Given the description of an element on the screen output the (x, y) to click on. 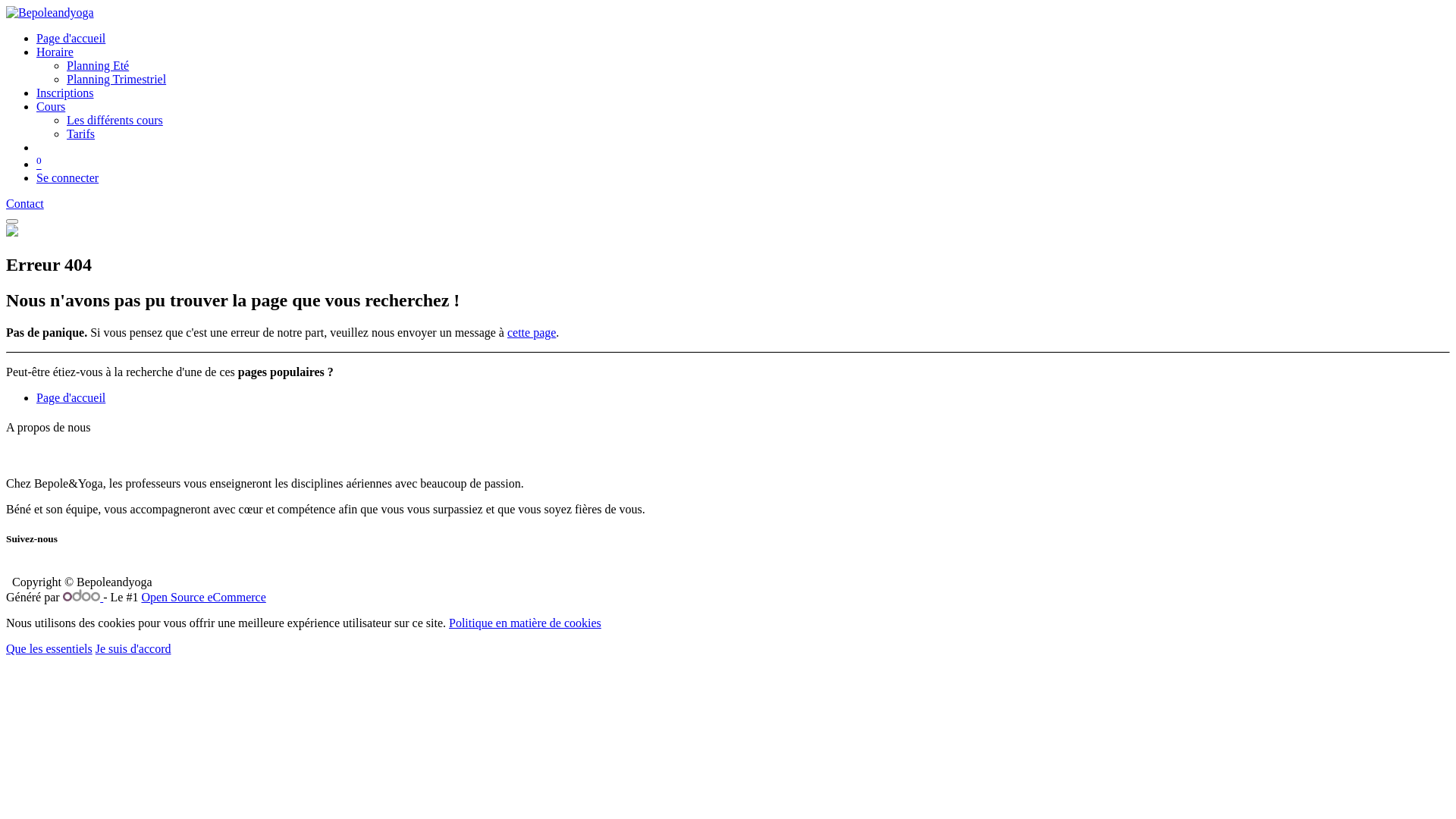
Que les essentiels Element type: text (49, 648)
Contact Element type: text (24, 203)
Page d'accueil Element type: text (70, 397)
Planning Trimestriel Element type: text (116, 78)
Je suis d'accord Element type: text (133, 648)
Horaire Element type: text (54, 51)
Tarifs Element type: text (80, 133)
cette page Element type: text (531, 332)
Inscriptions Element type: text (65, 92)
Open Source eCommerce Element type: text (203, 596)
Se connecter Element type: text (67, 177)
Bepoleandyoga  Element type: hover (50, 12)
Page d'accueil Element type: text (70, 37)
Cours Element type: text (50, 106)
0 Element type: text (38, 163)
